Given the description of an element on the screen output the (x, y) to click on. 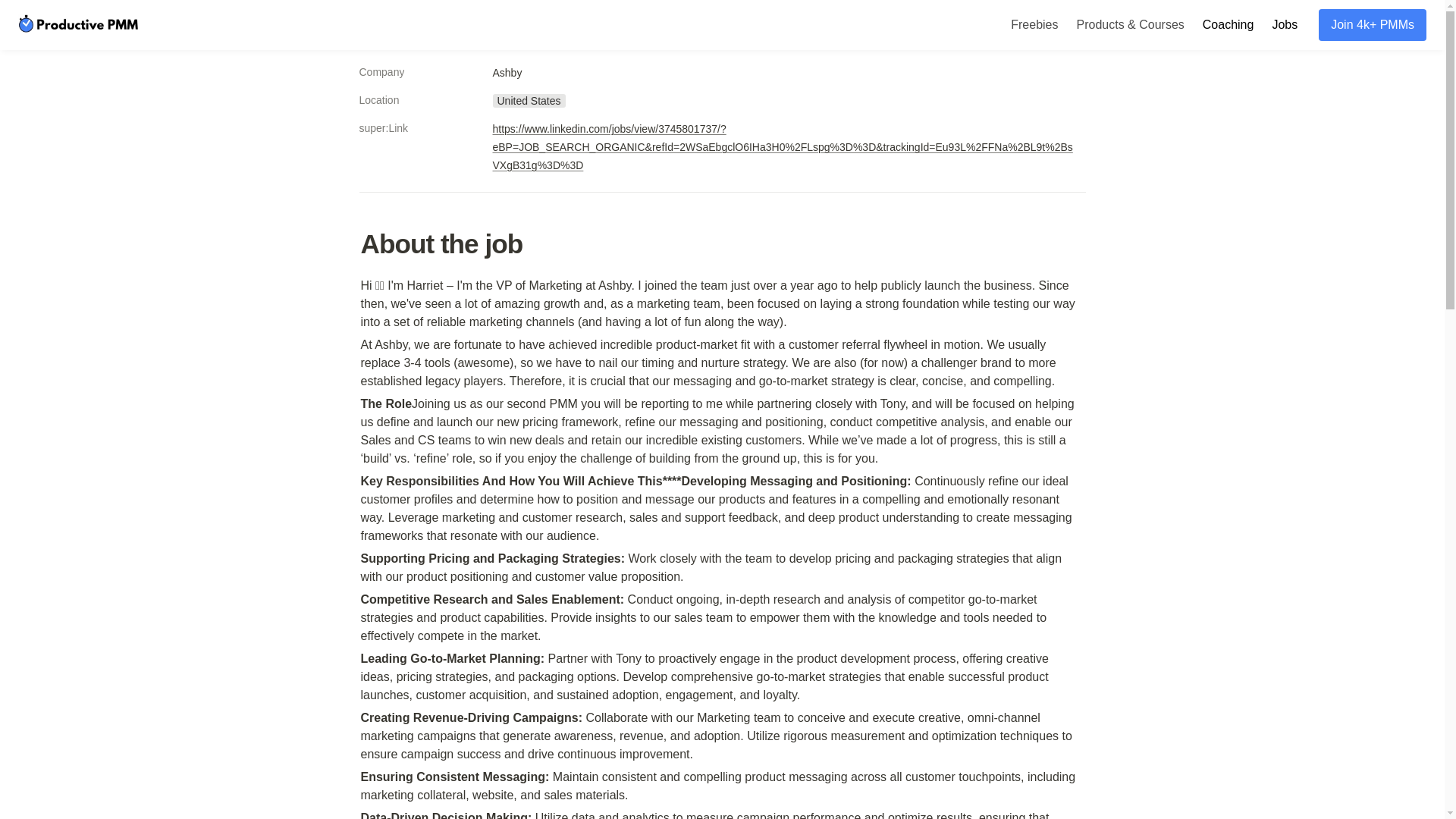
Jobs (1284, 24)
Freebies (1034, 24)
Coaching (1228, 24)
